Given the description of an element on the screen output the (x, y) to click on. 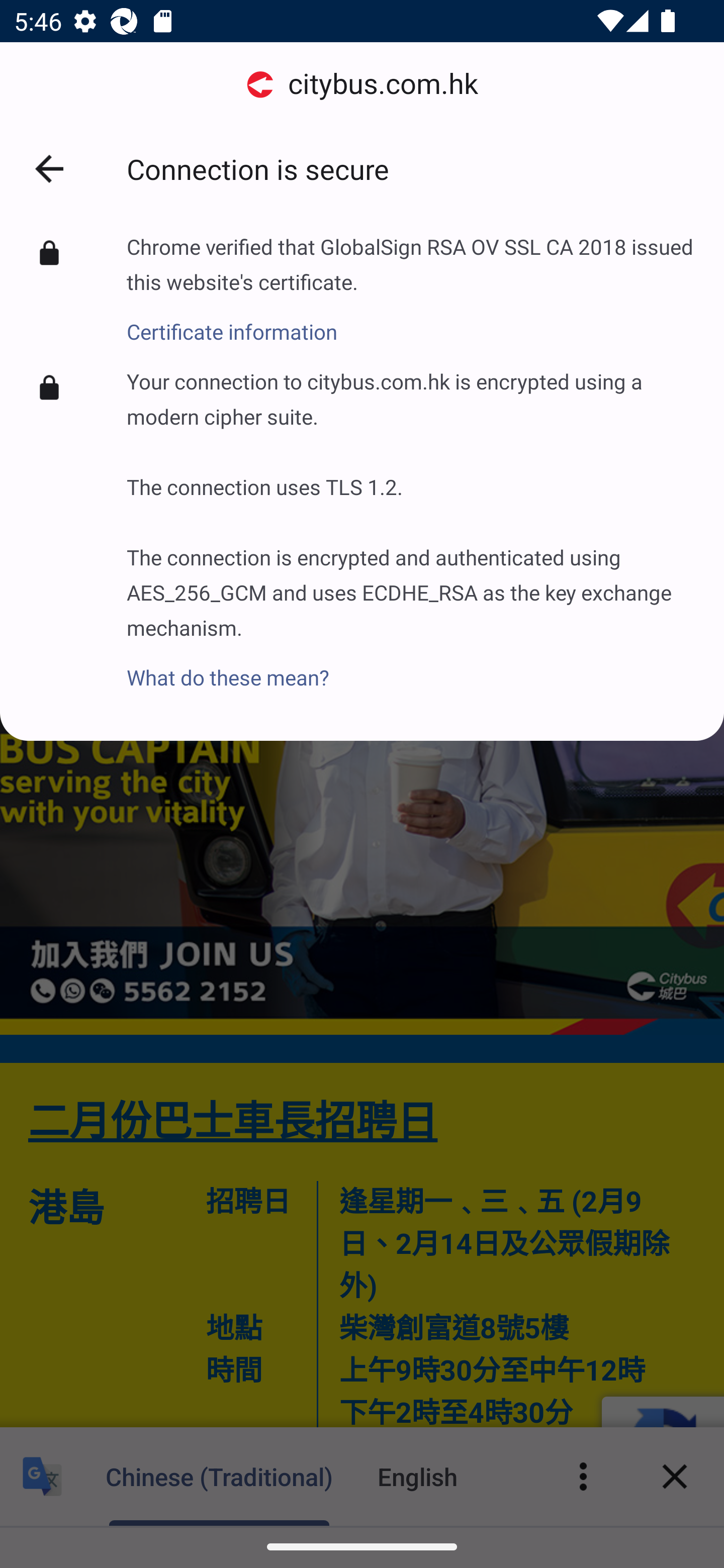
citybus.com.hk (362, 84)
Back (49, 169)
Certificate information (410, 321)
What do these mean? (410, 666)
